Given the description of an element on the screen output the (x, y) to click on. 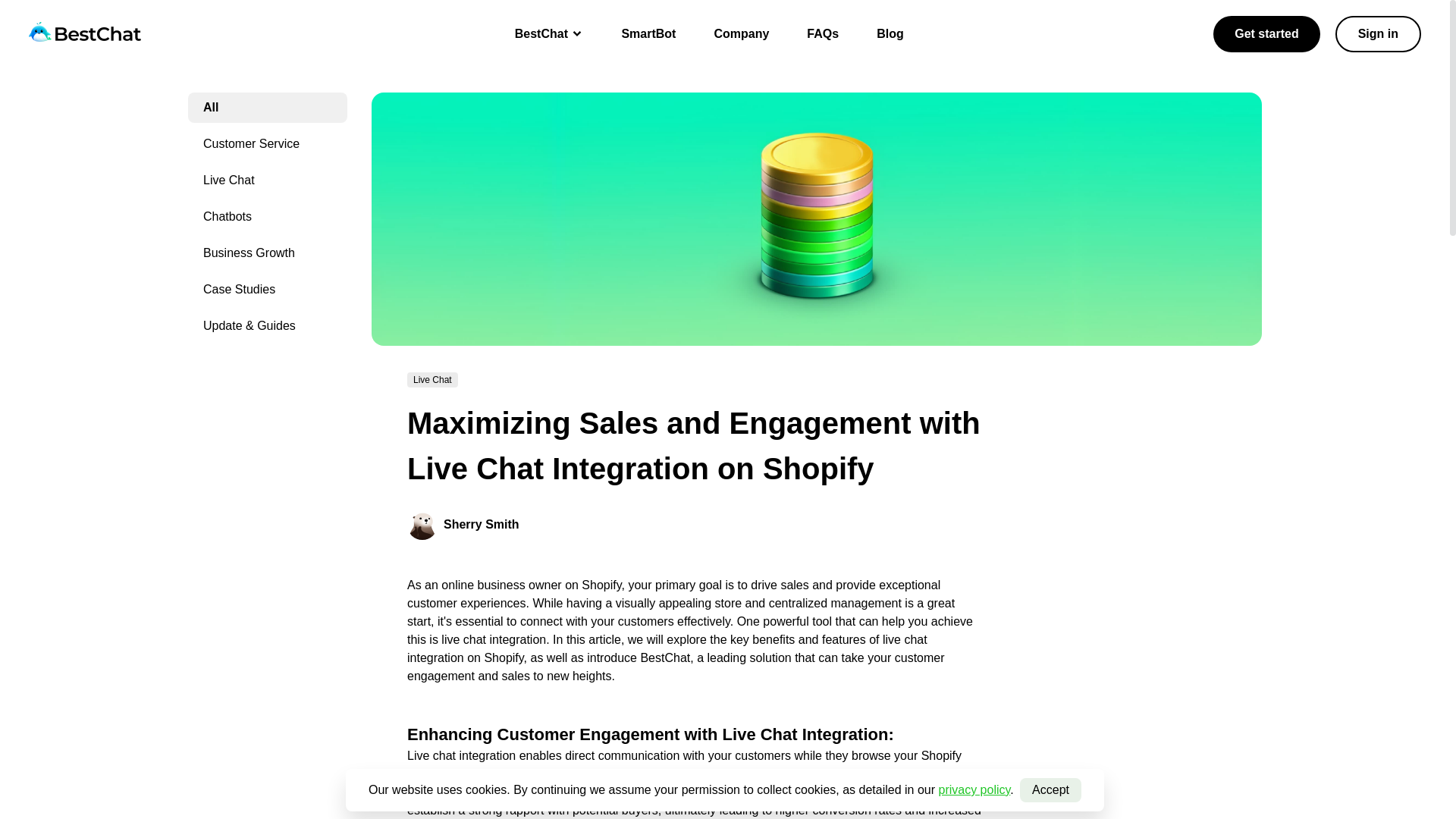
Company (740, 33)
Case Studies (267, 289)
Live Chat (267, 180)
FAQs (822, 33)
BestChat (549, 33)
Sign in (1378, 33)
Get started (1265, 33)
Live Chat (432, 379)
All (267, 107)
Customer Service (267, 143)
Chatbots (267, 216)
SmartBot (648, 33)
Blog (890, 33)
Business Growth (267, 253)
